Given the description of an element on the screen output the (x, y) to click on. 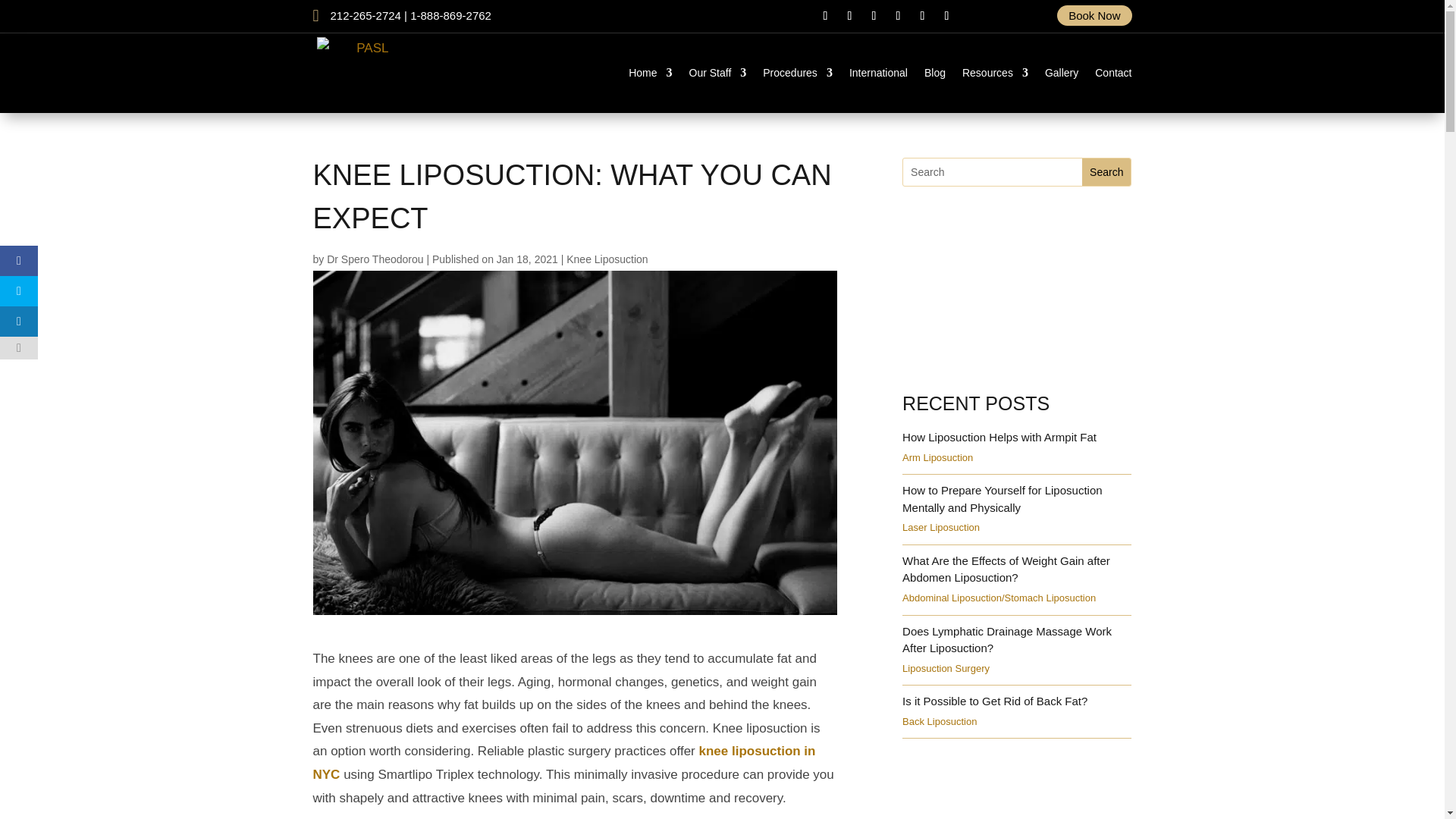
Follow (849, 15)
Follow on X (849, 15)
Follow on Facebook (824, 15)
Follow on Pinterest (922, 15)
212-265-2724 (365, 15)
knee Liposuction in NYC (564, 762)
Follow (824, 15)
Follow on Instagram (873, 15)
Follow on Youtube (897, 15)
Search (1106, 171)
Follow on LinkedIn (946, 15)
Posts by Dr Spero Theodorou (374, 259)
Book Now (1094, 14)
Search (1106, 171)
